Given the description of an element on the screen output the (x, y) to click on. 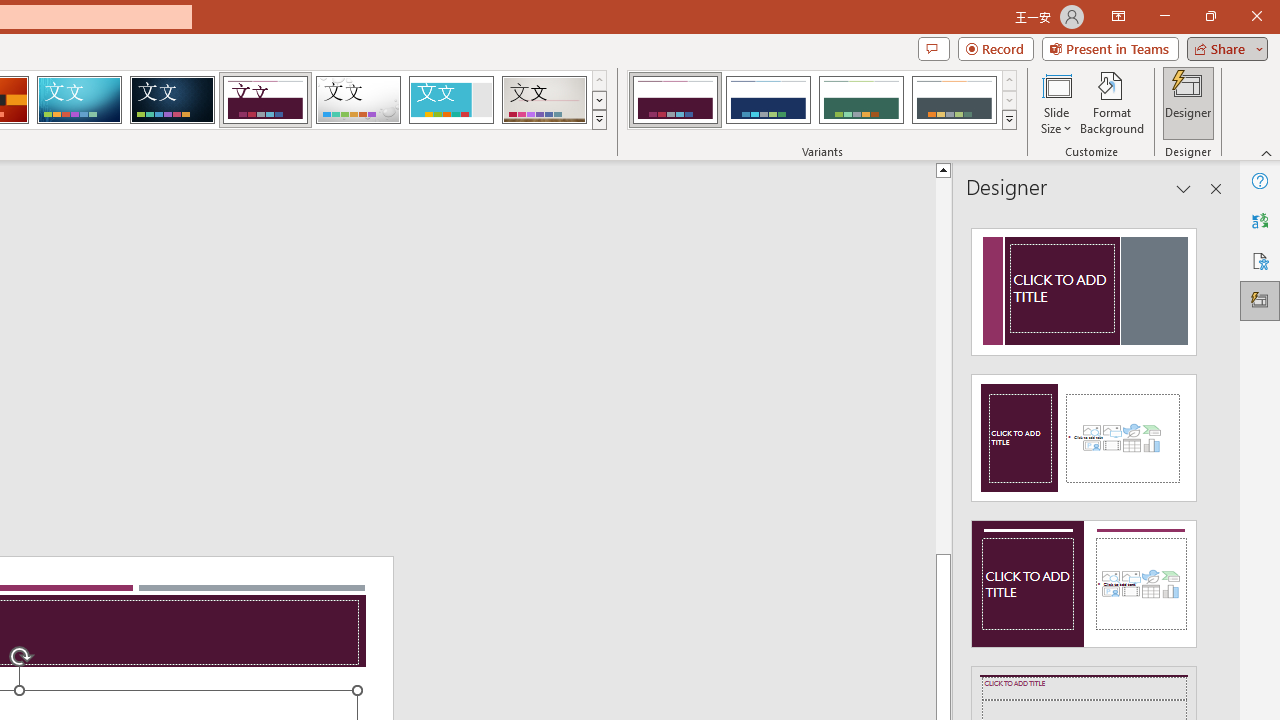
Recommended Design: Design Idea (1083, 286)
Slide Size (1056, 102)
Design Idea (1083, 577)
Circuit (79, 100)
Themes (598, 120)
Variants (1009, 120)
Format Background (1111, 102)
